Given the description of an element on the screen output the (x, y) to click on. 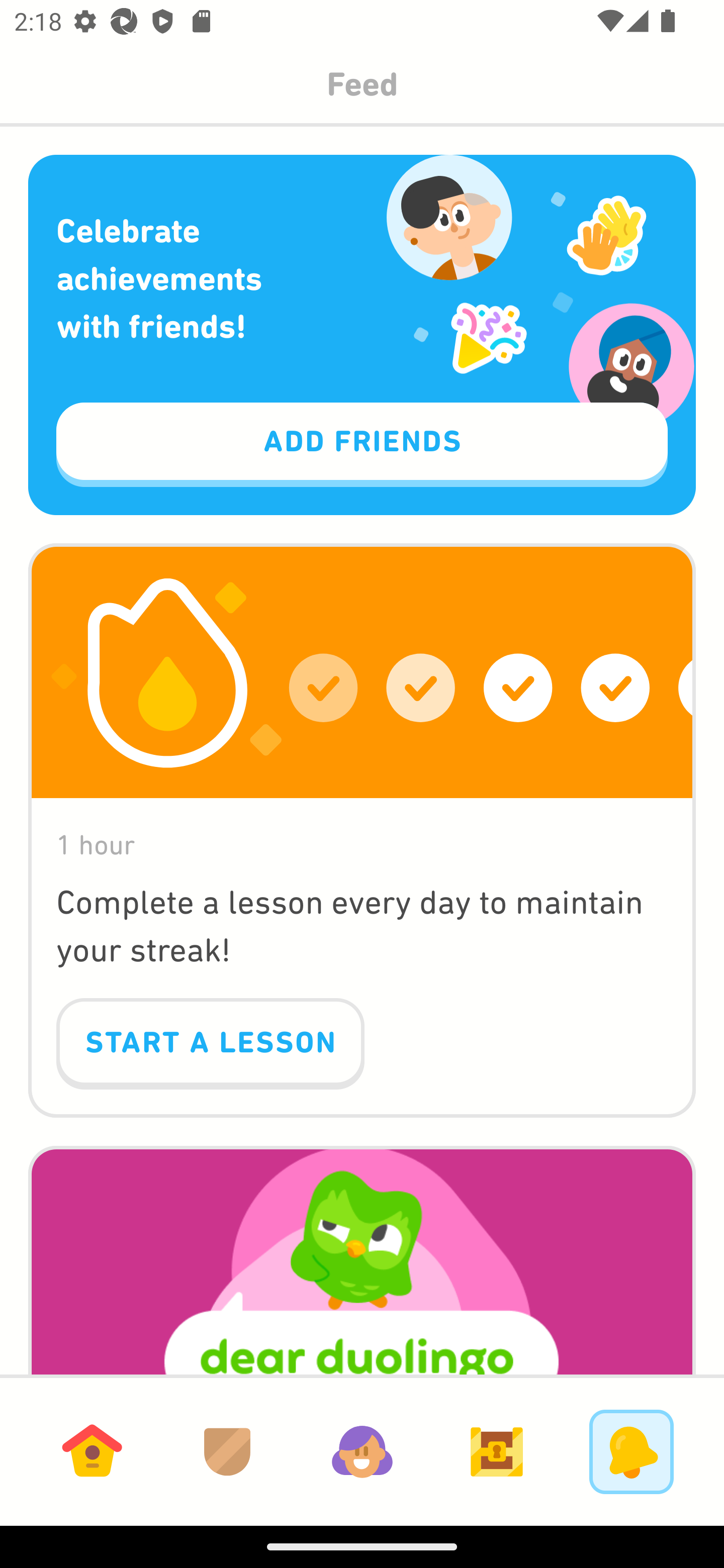
ADD FRIENDS (361, 444)
START A LESSON (210, 1043)
Learn Tab (91, 1451)
Leagues Tab (227, 1451)
Profile Tab (361, 1451)
Goals Tab (496, 1451)
News Tab (631, 1451)
